Given the description of an element on the screen output the (x, y) to click on. 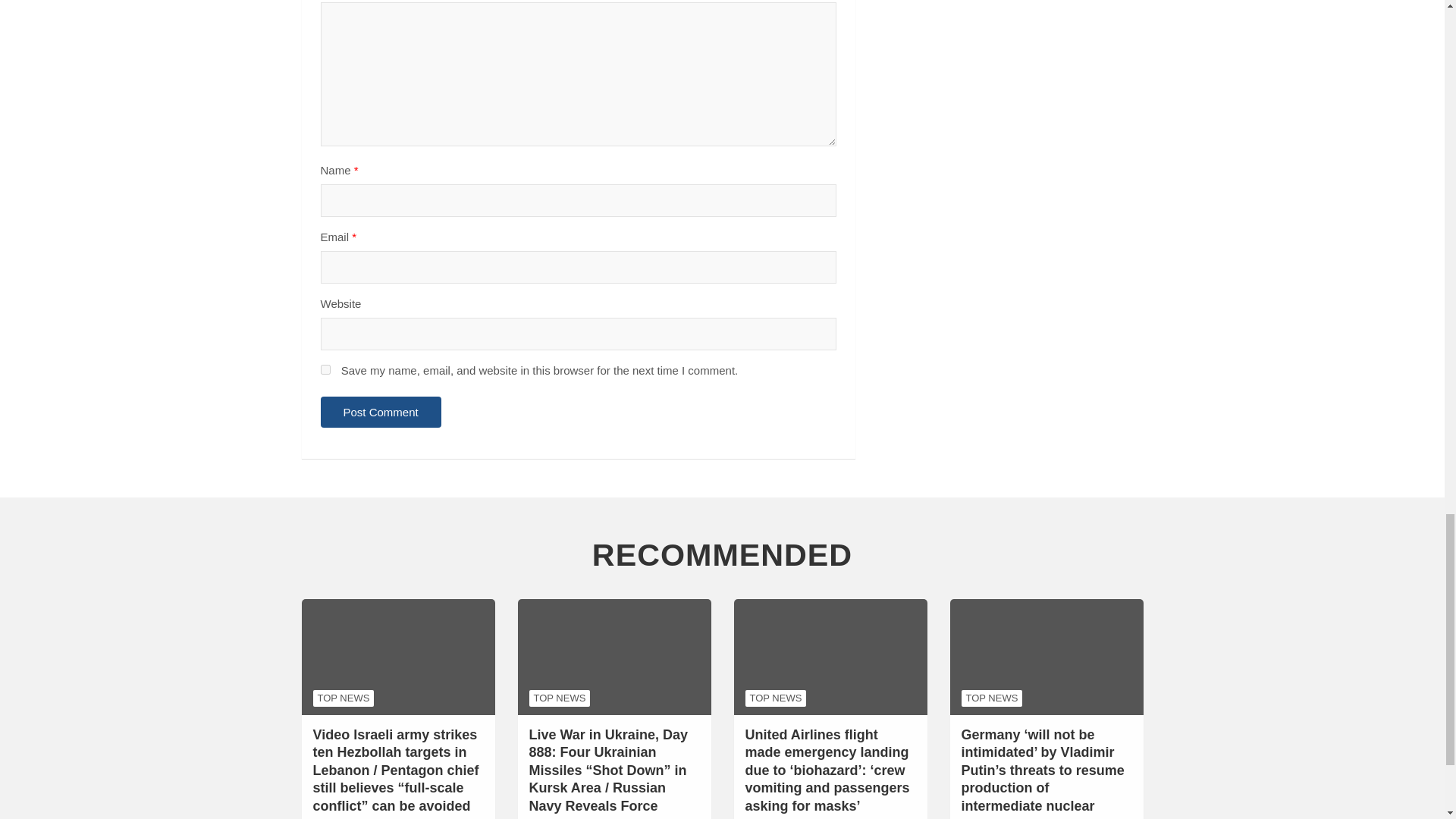
TOP NEWS (343, 698)
yes (325, 369)
Post Comment (380, 411)
Post Comment (380, 411)
